Given the description of an element on the screen output the (x, y) to click on. 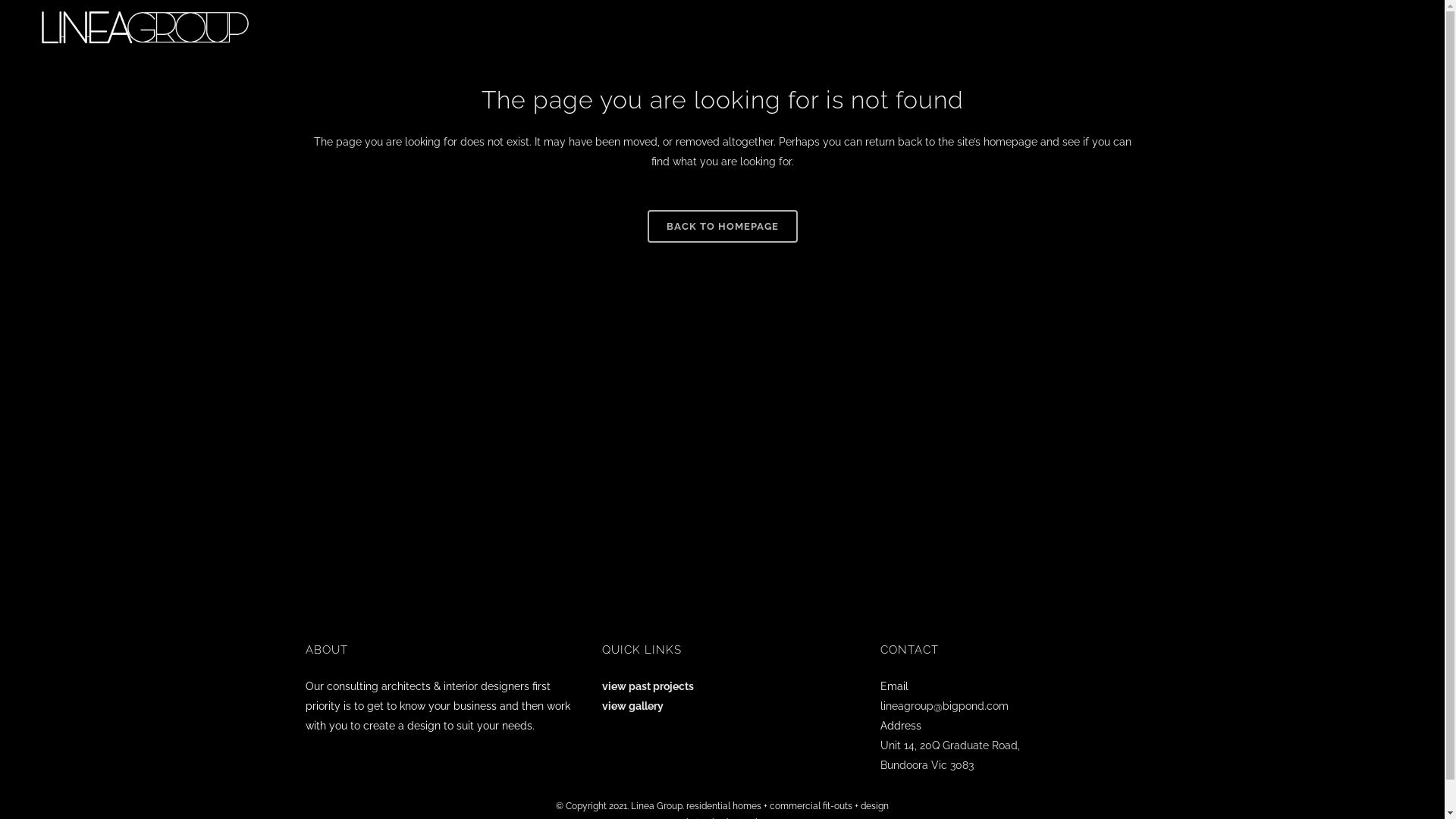
Past Projects Element type: text (1232, 26)
lineagroup@bigpond.com Element type: text (944, 705)
BACK TO HOMEPAGE Element type: text (722, 226)
Contact Element type: text (1376, 26)
view gallery Element type: text (632, 705)
Gallery Element type: text (1311, 26)
Unit 14, 20Q Graduate Road,
Bundoora Vic 3083 Element type: text (949, 755)
view past projects Element type: text (647, 686)
